Given the description of an element on the screen output the (x, y) to click on. 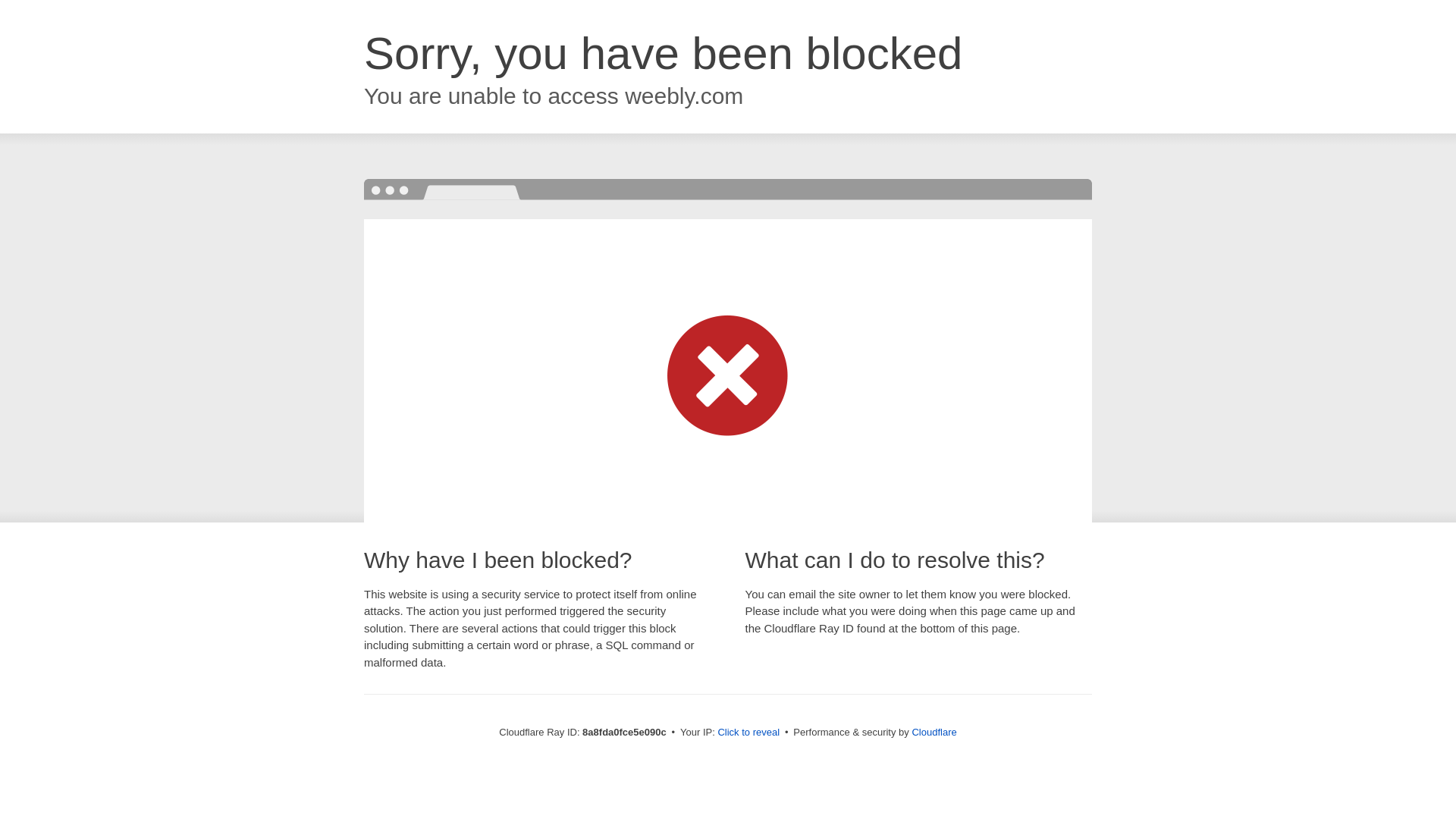
Click to reveal (747, 732)
Cloudflare (933, 731)
